Given the description of an element on the screen output the (x, y) to click on. 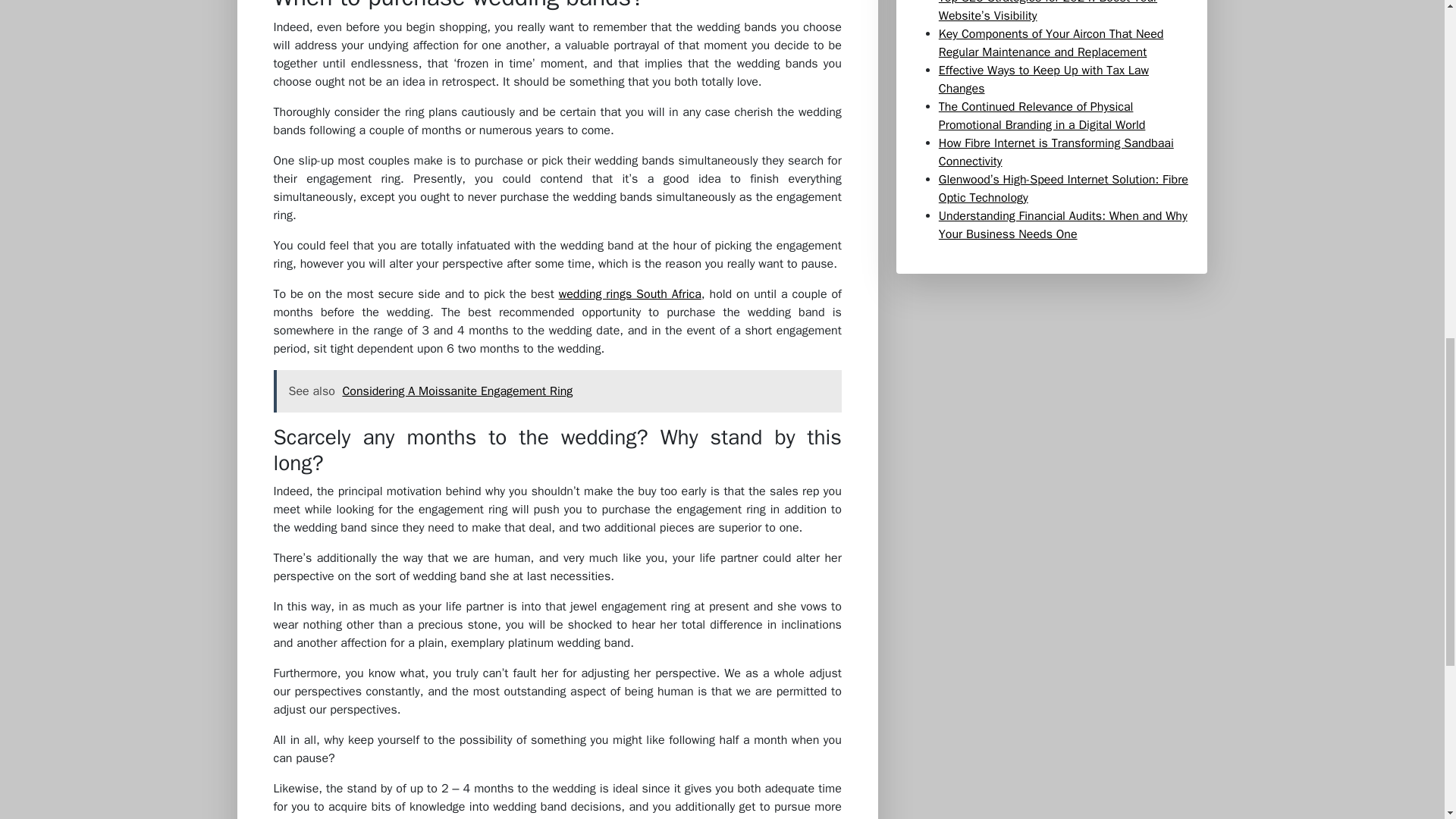
See also  Considering A Moissanite Engagement Ring (557, 391)
wedding rings South Africa (630, 294)
